Given the description of an element on the screen output the (x, y) to click on. 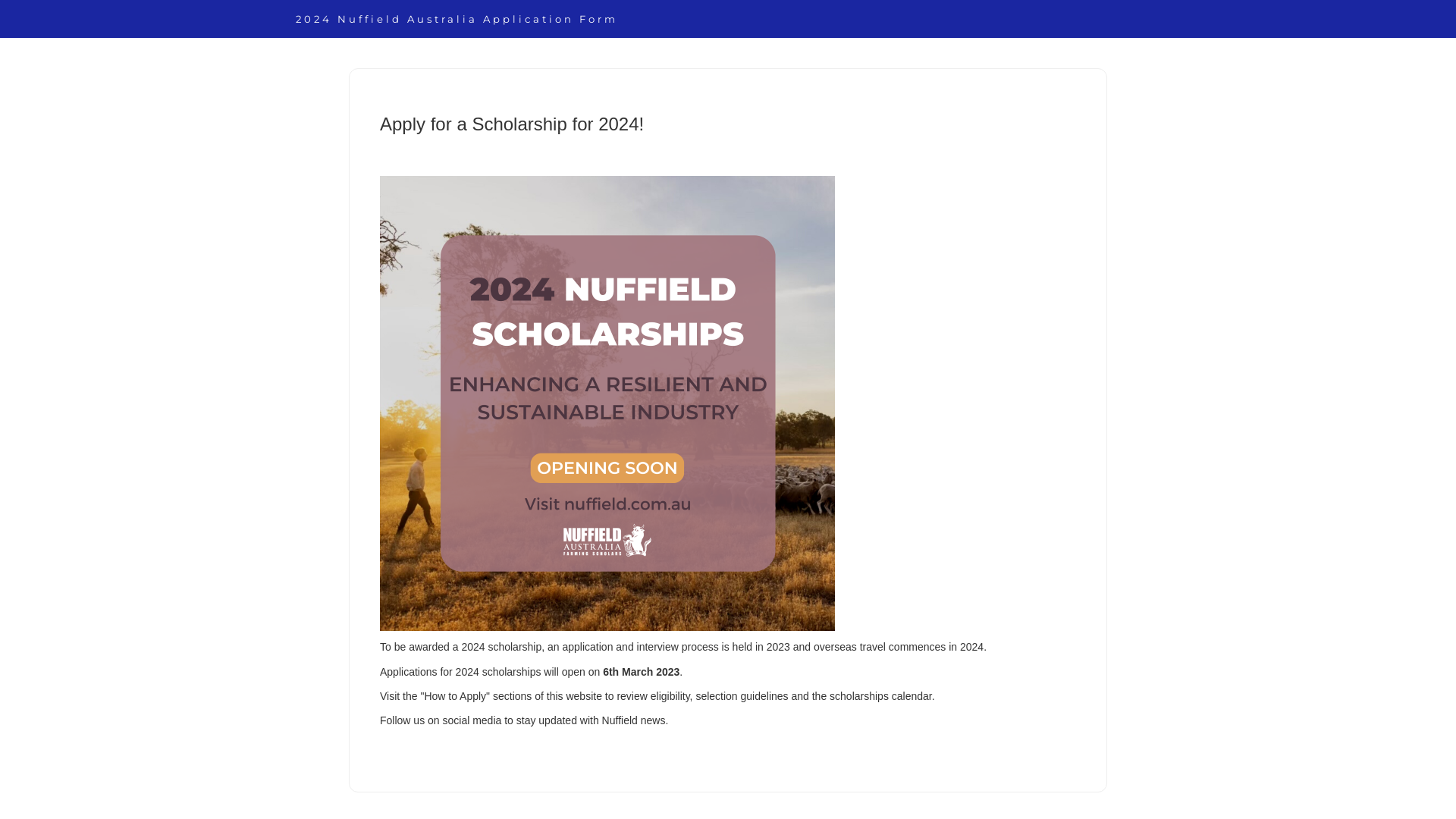
2024 Nuffield Australia Application Form Element type: text (456, 18)
